Given the description of an element on the screen output the (x, y) to click on. 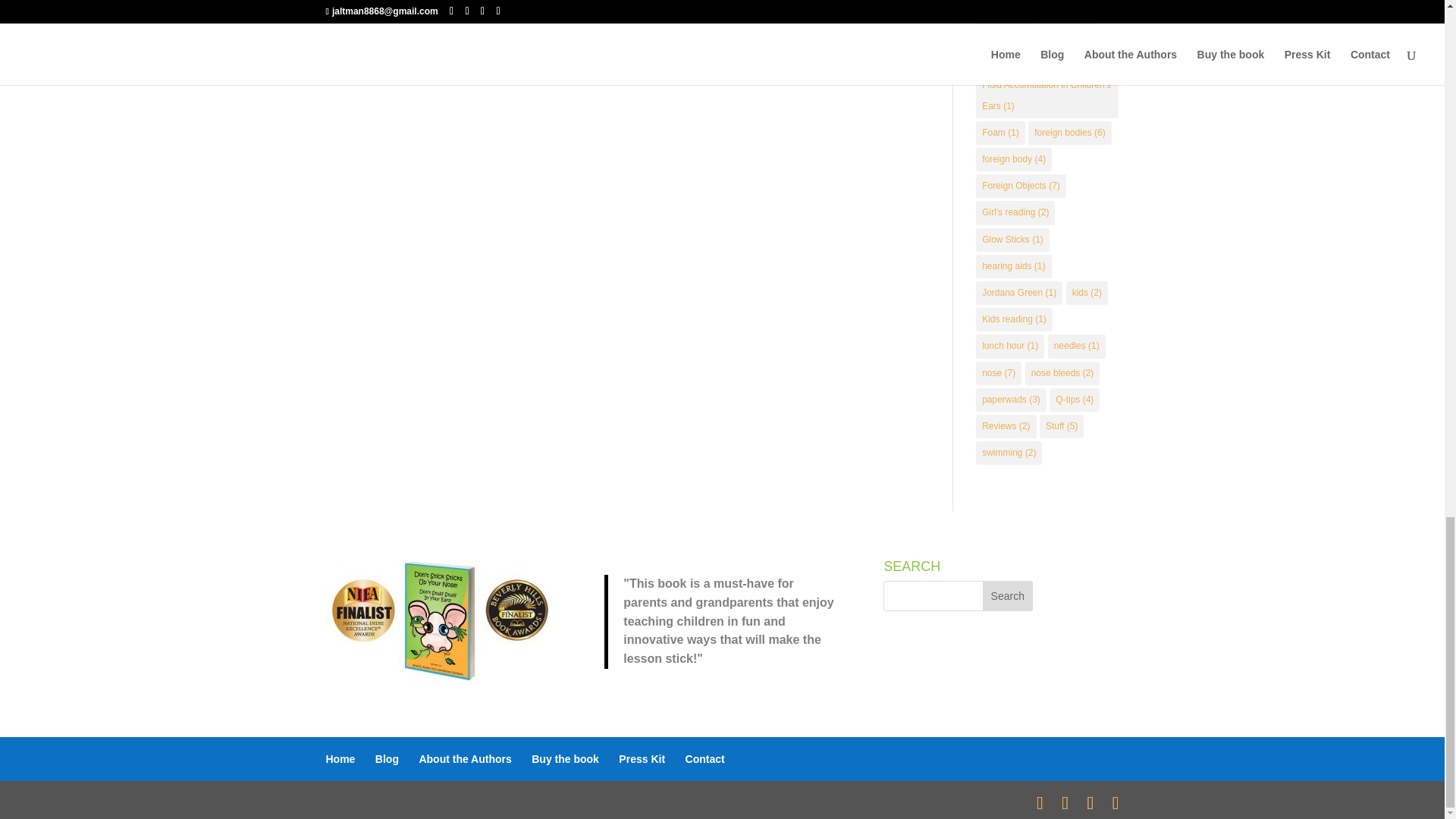
Search (1007, 595)
